Given the description of an element on the screen output the (x, y) to click on. 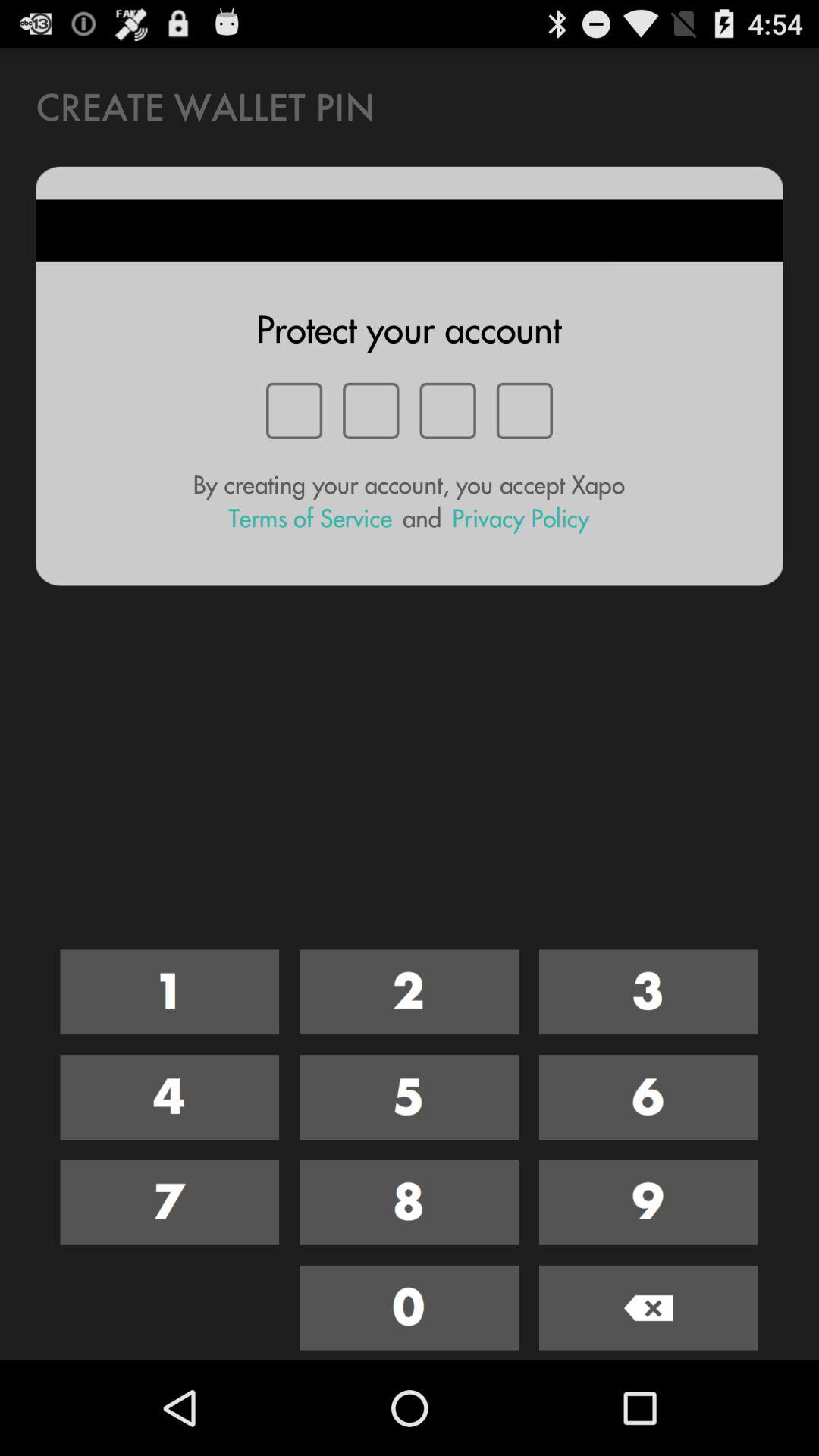
press number 6 (648, 1097)
